Given the description of an element on the screen output the (x, y) to click on. 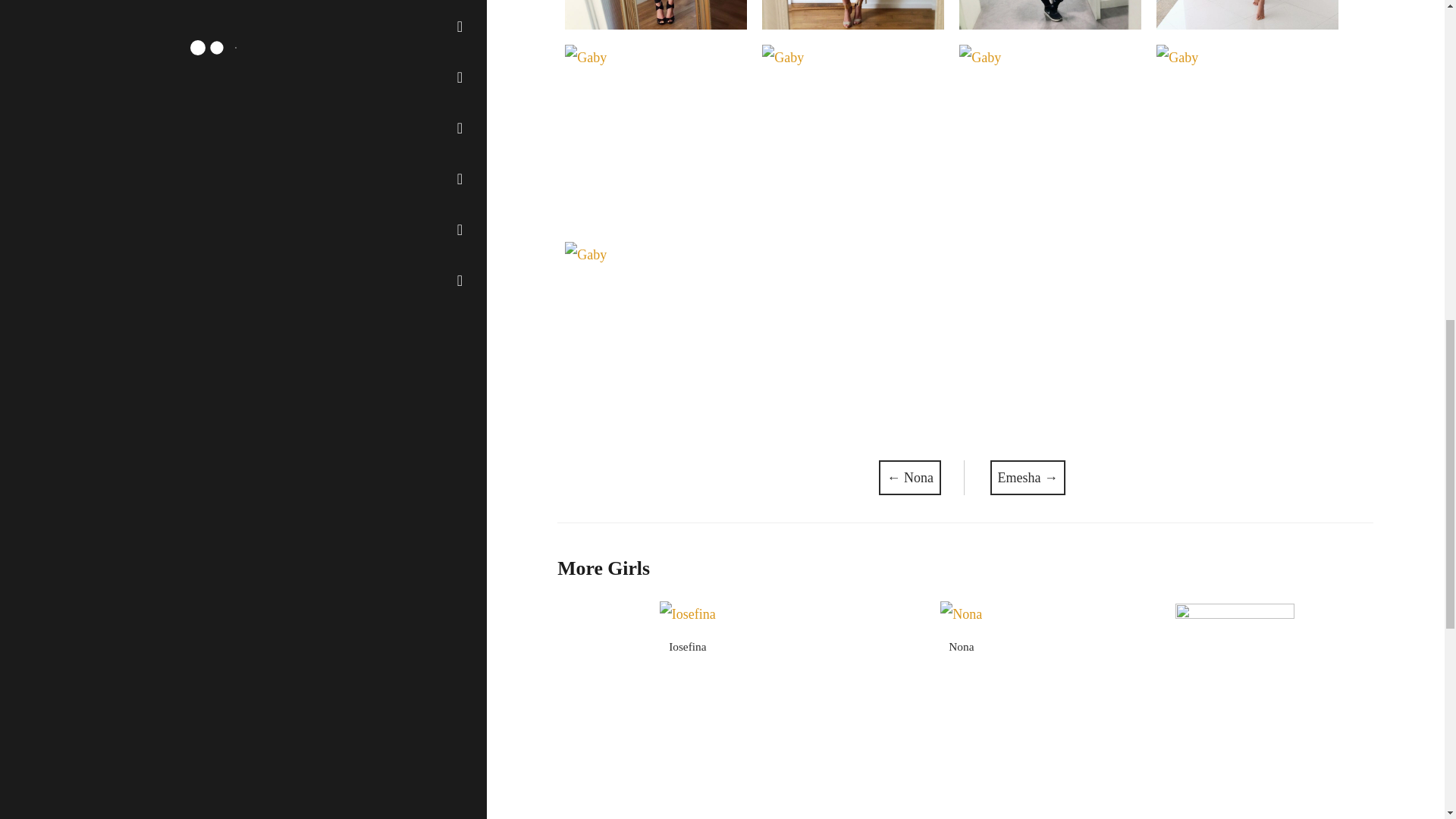
Nona (961, 645)
Iosefina (687, 645)
